Given the description of an element on the screen output the (x, y) to click on. 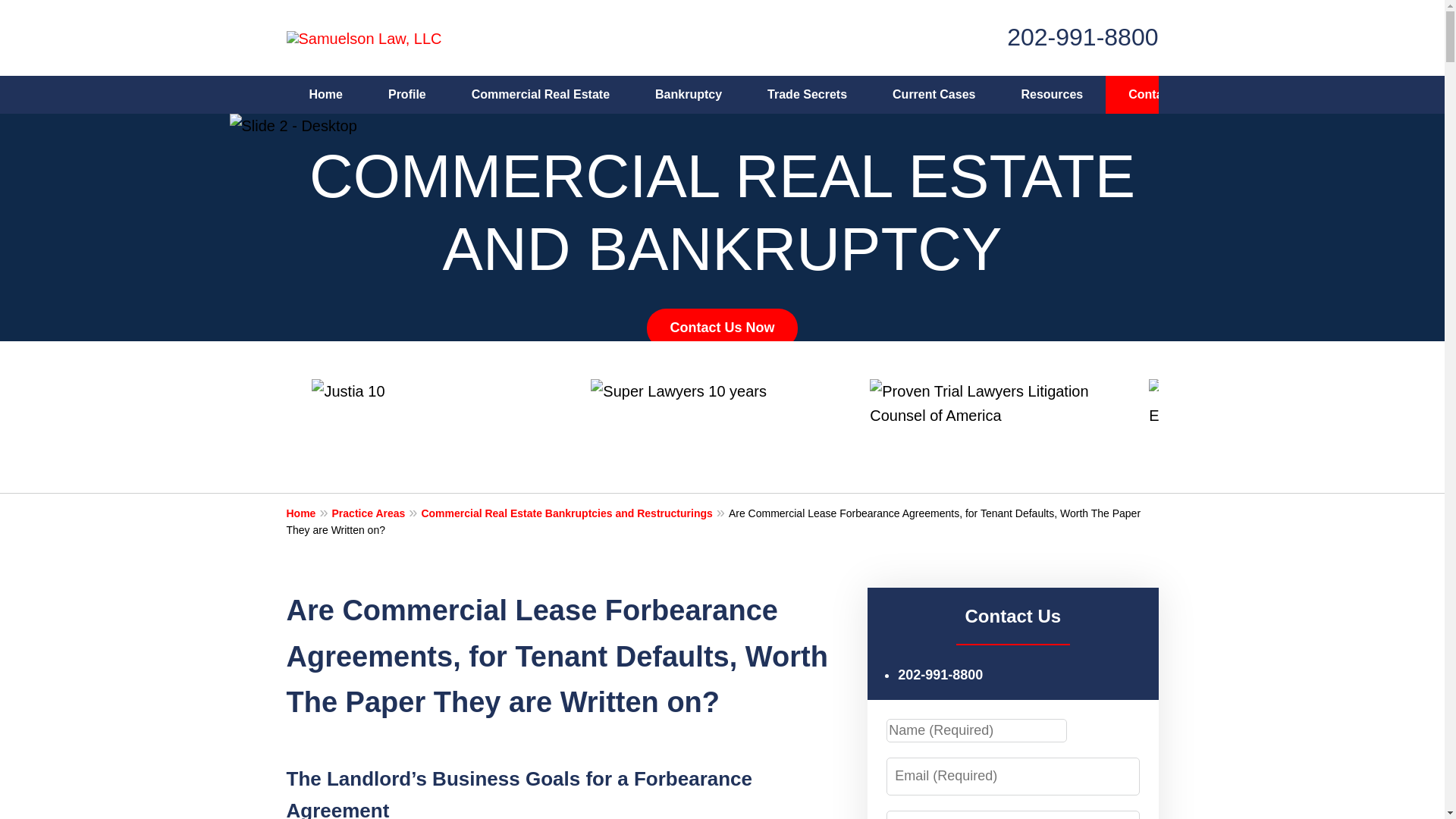
Commercial Real Estate (539, 94)
Home (325, 94)
Home (308, 513)
Current Cases (933, 94)
Trade Secrets (806, 94)
Contact Us Now (721, 328)
Resources (1051, 94)
Practice Areas (376, 513)
Contact Us (1159, 94)
Profile (406, 94)
